Given the description of an element on the screen output the (x, y) to click on. 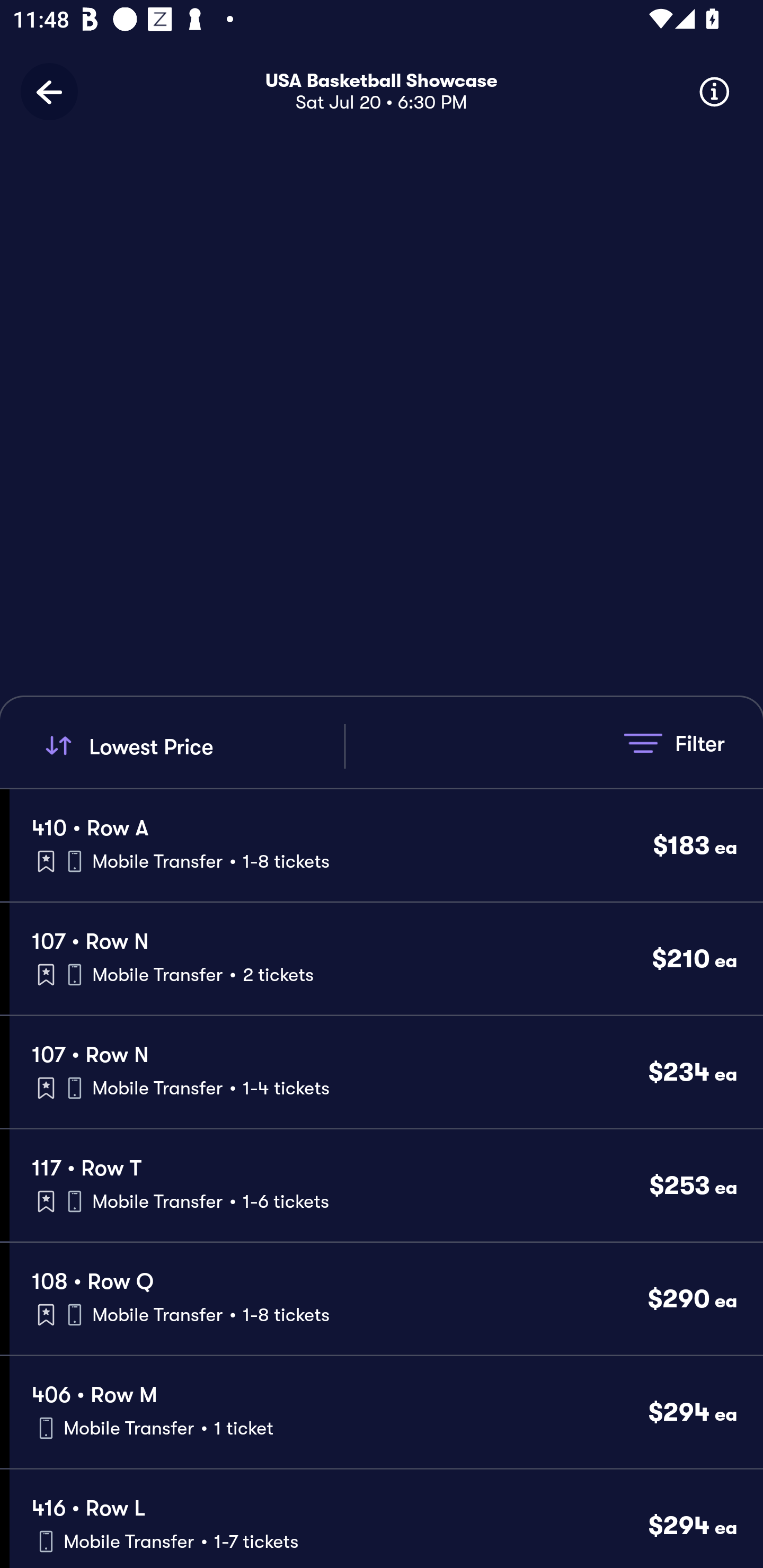
Lowest Price (191, 746)
Filter (674, 743)
410 • Row A Mobile Transfer • 1-8 tickets $183 ea (386, 844)
107 • Row N Mobile Transfer • 2 tickets $210 ea (386, 958)
107 • Row N Mobile Transfer • 1-4 tickets $234 ea (386, 1071)
117 • Row T Mobile Transfer • 1-6 tickets $253 ea (386, 1184)
108 • Row Q Mobile Transfer • 1-8 tickets $290 ea (386, 1298)
406 • Row M Mobile Transfer • 1 ticket $294 ea (386, 1411)
416 • Row L Mobile Transfer • 1-7 tickets $294 ea (386, 1518)
